Given the description of an element on the screen output the (x, y) to click on. 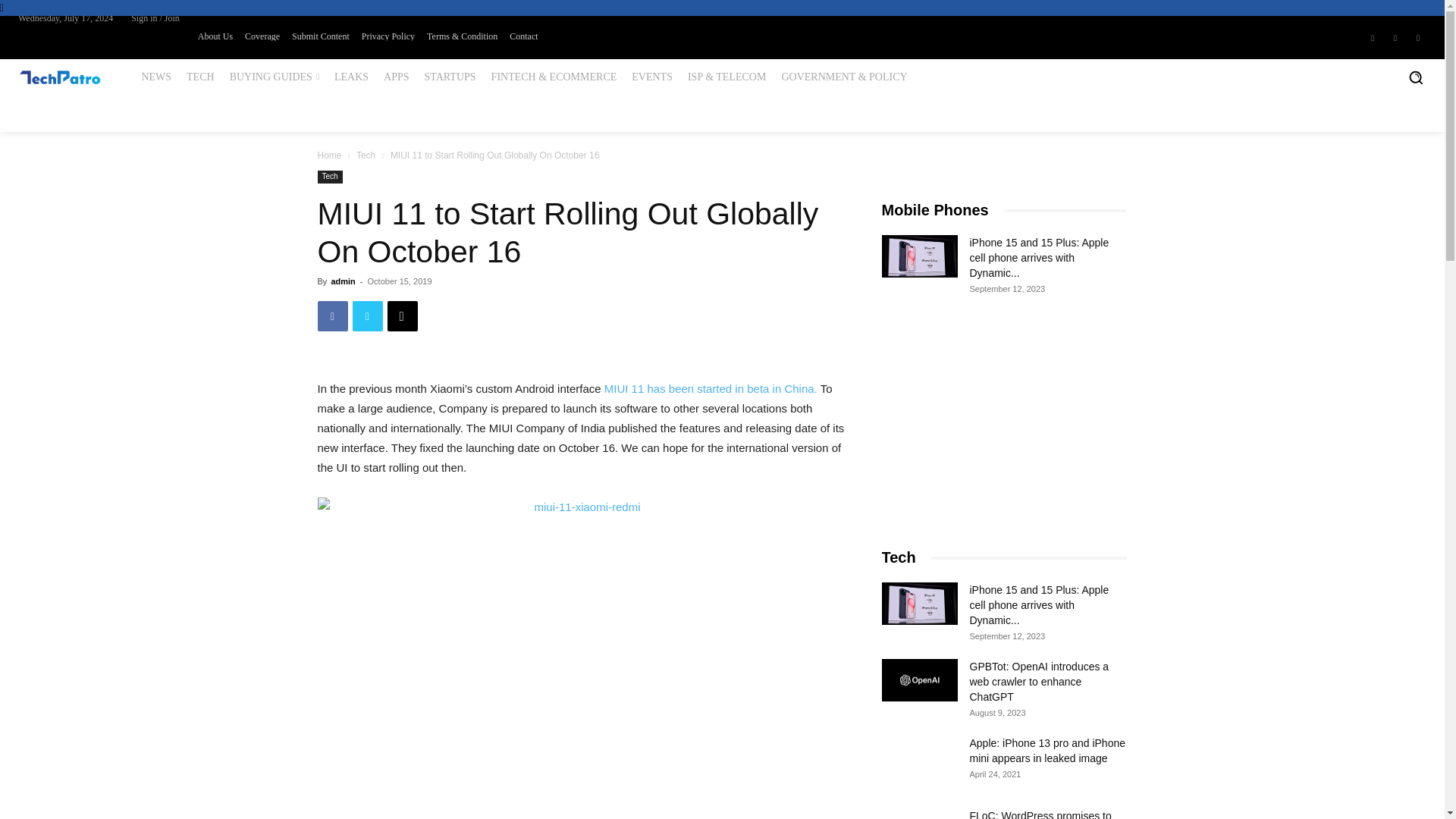
Twitter (1417, 36)
Coverage (261, 35)
BUYING GUIDES (274, 76)
Contact (523, 35)
STARTUPS (449, 76)
About Us (215, 35)
Facebook (1372, 36)
Instagram (1395, 36)
LEAKS (350, 76)
Privacy Policy (387, 35)
Submit Content (320, 35)
TECH (200, 76)
APPS (395, 76)
EVENTS (651, 76)
NEWS (156, 76)
